Given the description of an element on the screen output the (x, y) to click on. 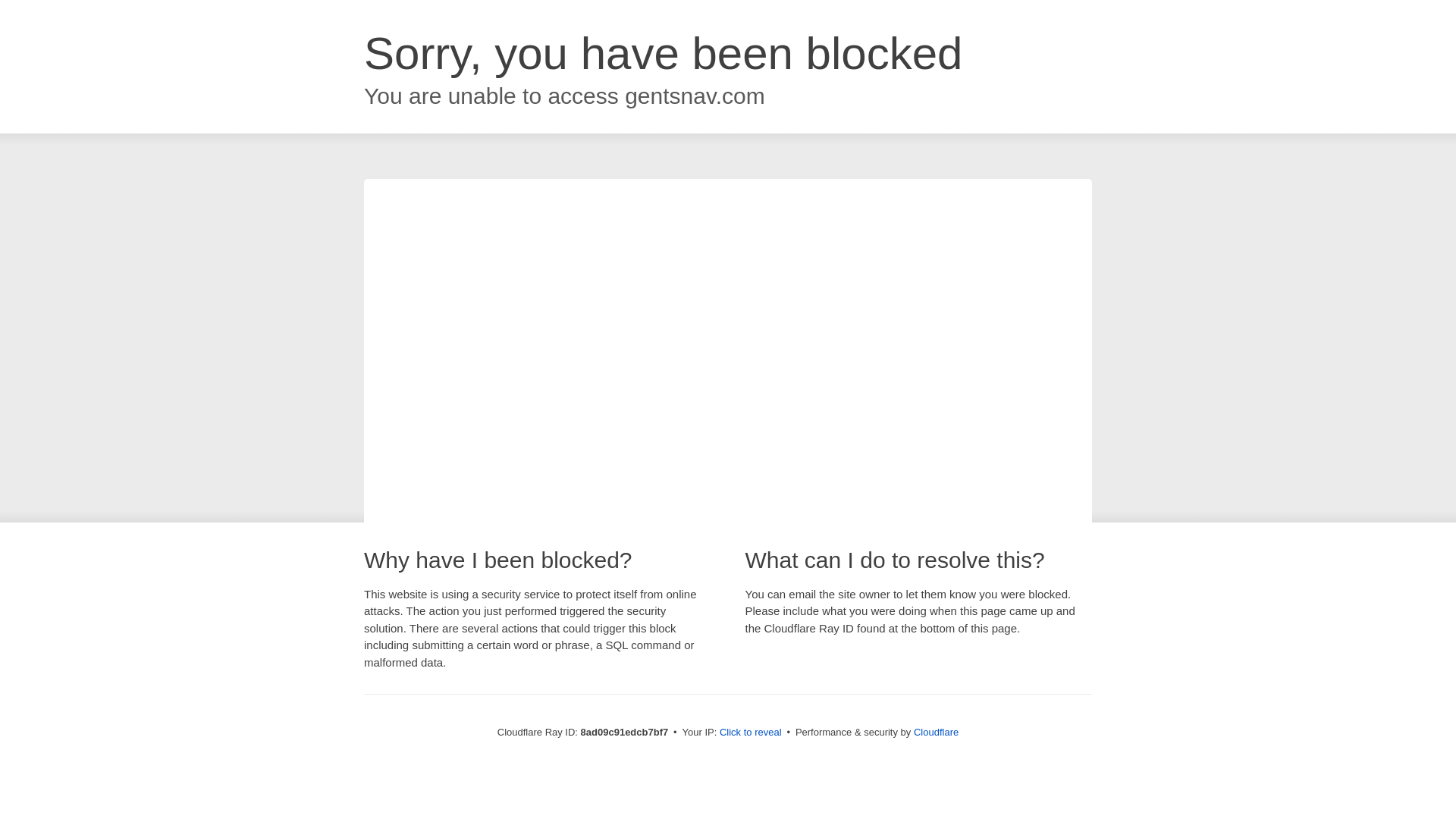
Click to reveal (750, 732)
Cloudflare (936, 731)
